Given the description of an element on the screen output the (x, y) to click on. 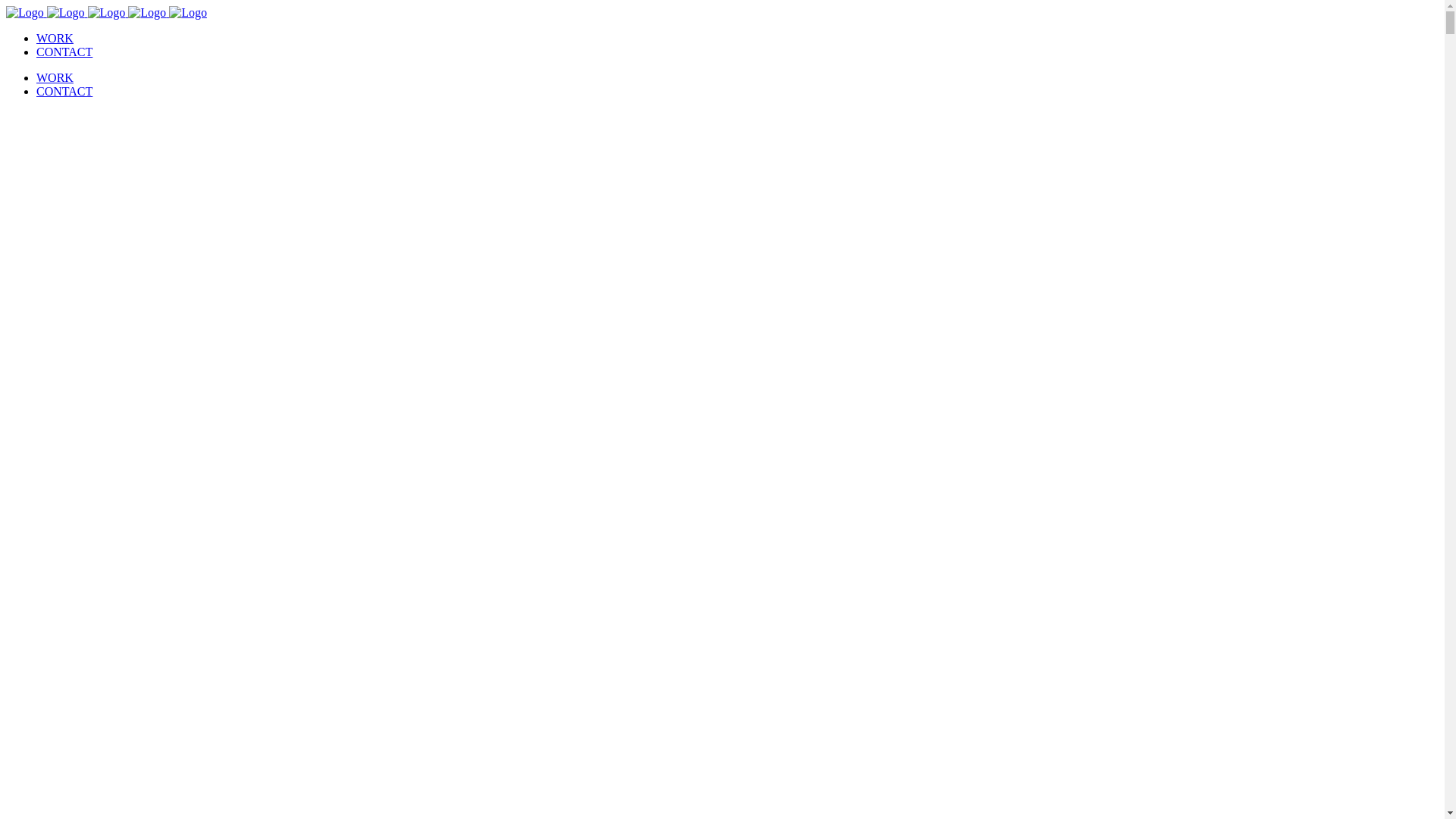
WORK Element type: text (54, 77)
CONTACT Element type: text (64, 51)
WORK Element type: text (54, 37)
CONTACT Element type: text (64, 90)
